Given the description of an element on the screen output the (x, y) to click on. 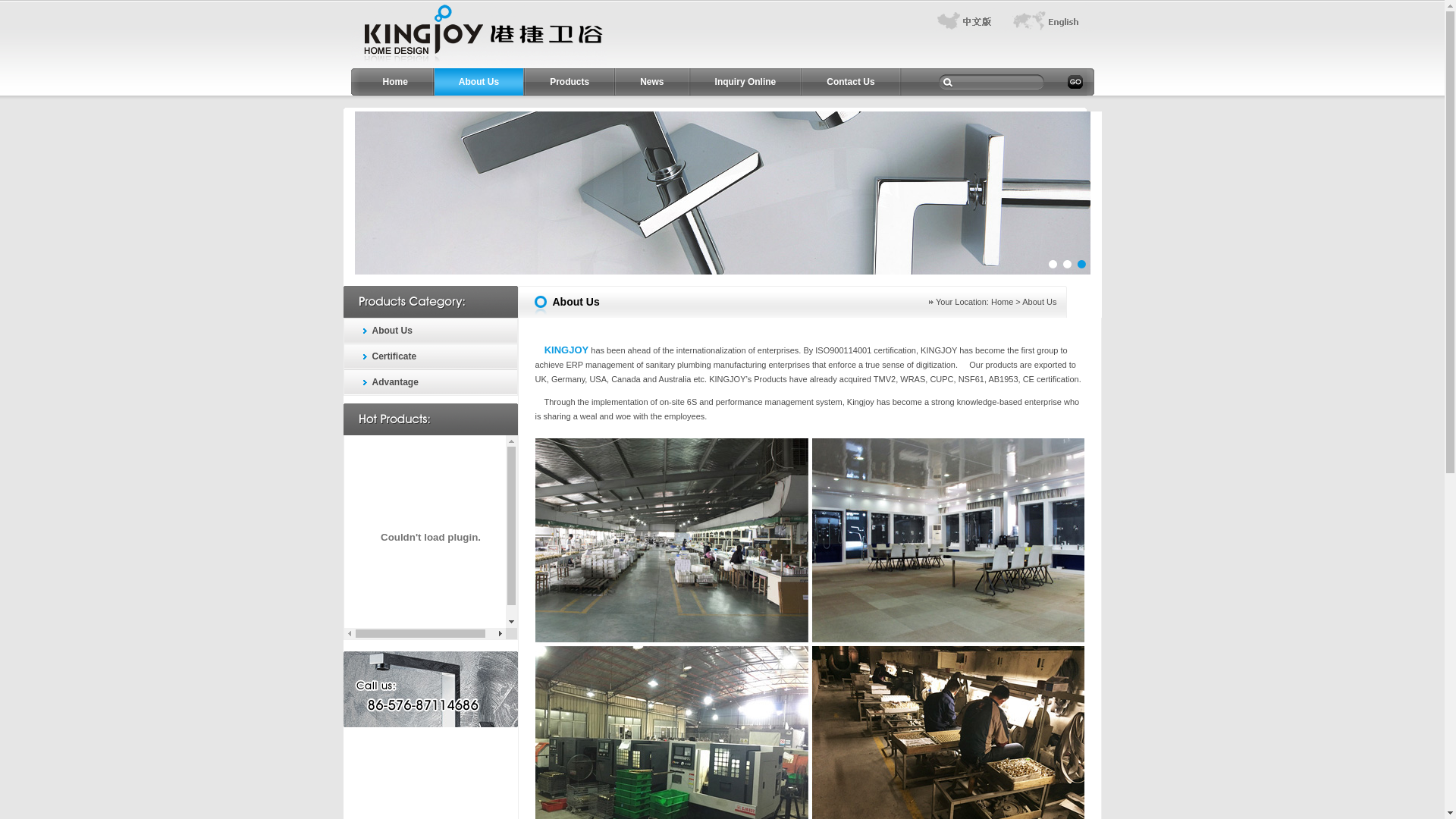
Home Element type: text (1002, 301)
News Element type: text (651, 81)
About Us Element type: text (478, 81)
Certificate Element type: text (439, 356)
About Us Element type: text (439, 330)
Zhejiang Yuhuan Kingjoy Metal Products Co.,Ltd. Element type: hover (477, 64)
Products Element type: text (569, 81)
Home Element type: text (394, 81)
Inquiry Online Element type: text (745, 81)
Contact Us Element type: text (850, 81)
Advantage Element type: text (439, 382)
